Given the description of an element on the screen output the (x, y) to click on. 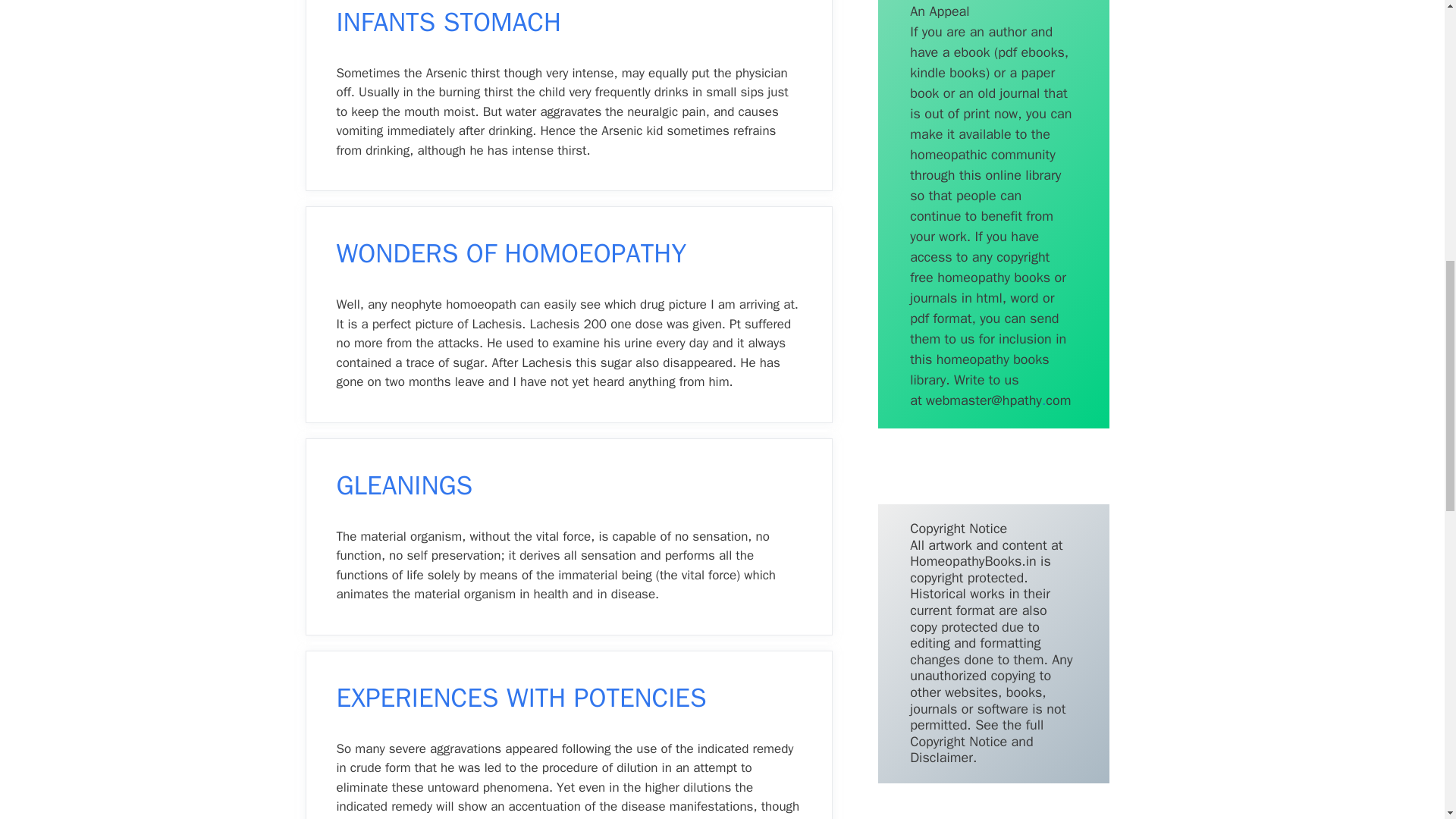
INFANTS STOMACH (449, 21)
Scroll back to top (1406, 720)
GLEANINGS (404, 485)
WONDERS OF HOMOEOPATHY (511, 253)
EXPERIENCES WITH POTENCIES (521, 697)
